Given the description of an element on the screen output the (x, y) to click on. 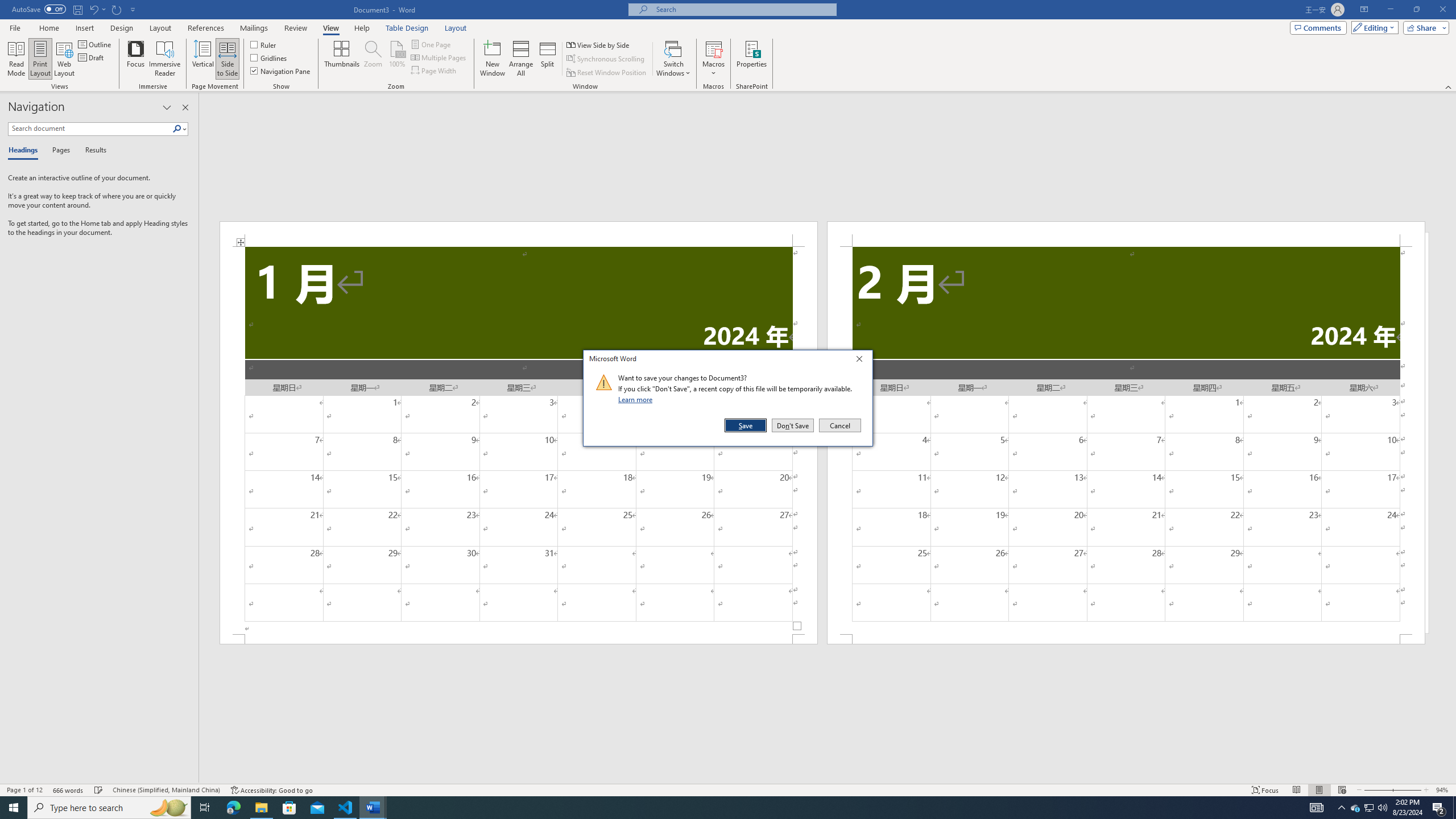
Immersive Reader (165, 58)
Multiple Pages (439, 56)
Synchronous Scrolling (605, 58)
Switch Windows (673, 58)
